Given the description of an element on the screen output the (x, y) to click on. 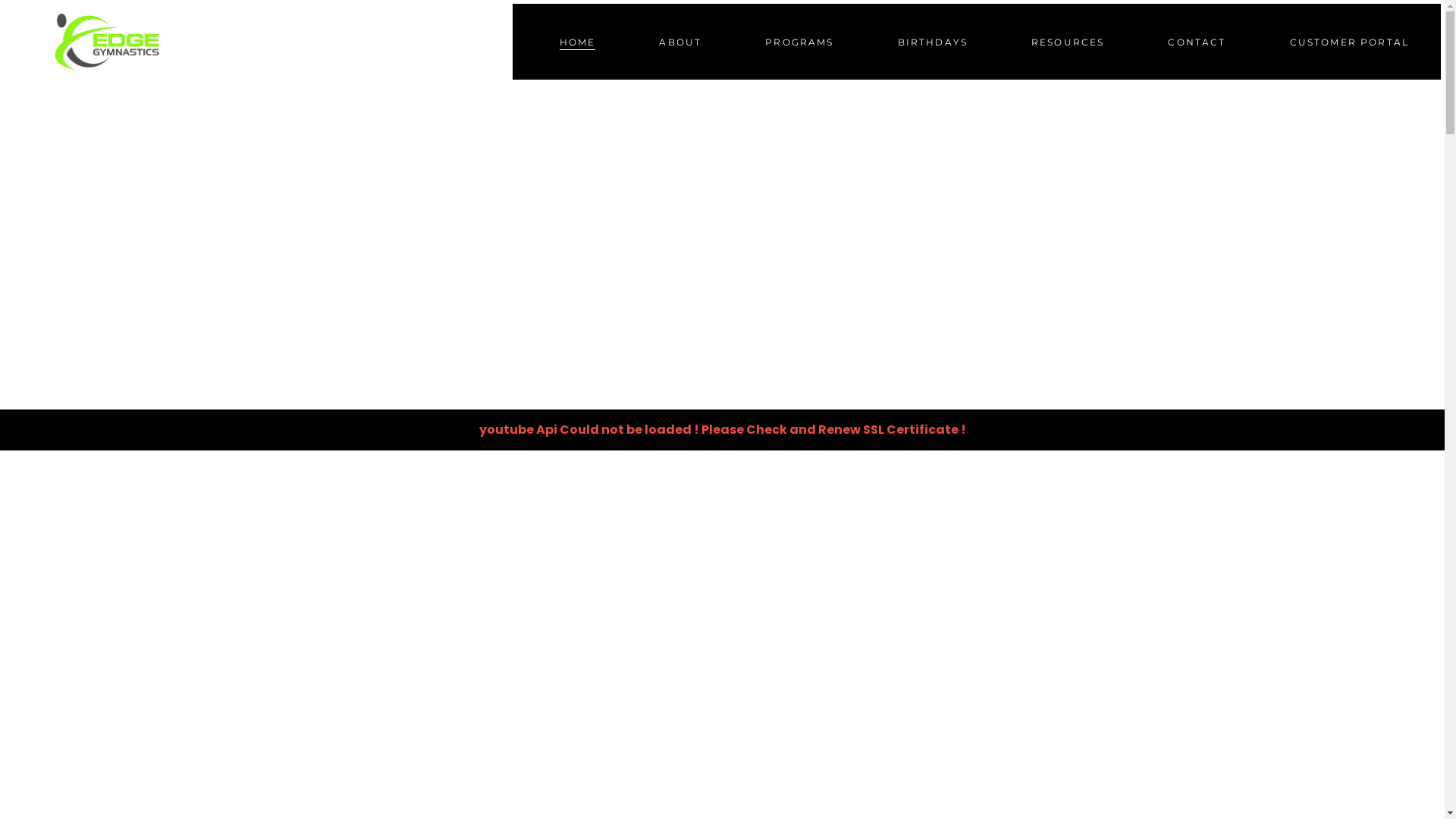
HOME Element type: text (577, 41)
PROGRAMS Element type: text (799, 41)
RESOURCES Element type: text (1067, 41)
BIRTHDAYS Element type: text (932, 41)
CUSTOMER PORTAL Element type: text (1349, 41)
CONTACT Element type: text (1196, 41)
ABOUT Element type: text (680, 41)
